Given the description of an element on the screen output the (x, y) to click on. 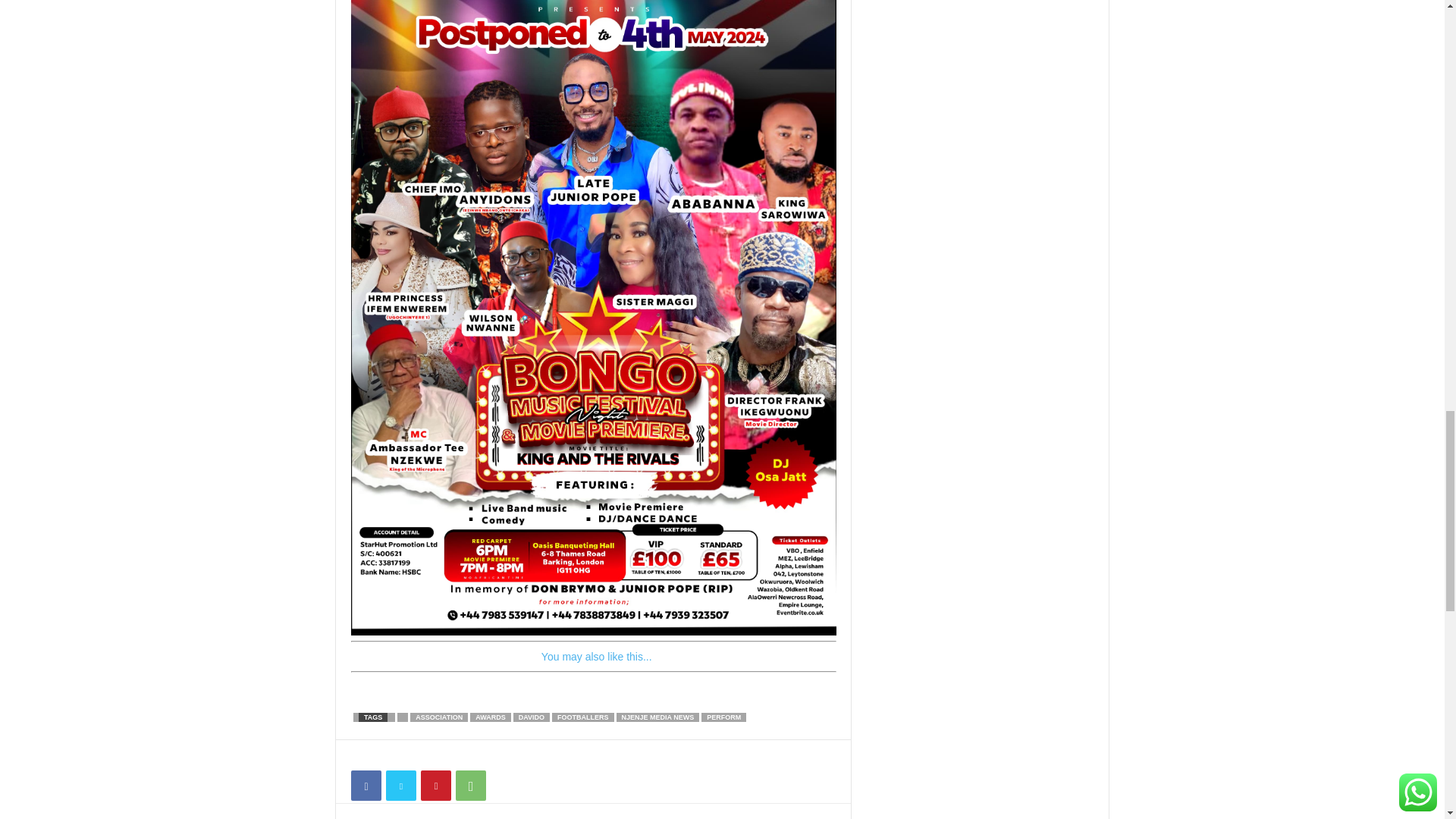
WhatsApp (470, 785)
Pinterest (435, 785)
Facebook (365, 785)
Twitter (400, 785)
